Given the description of an element on the screen output the (x, y) to click on. 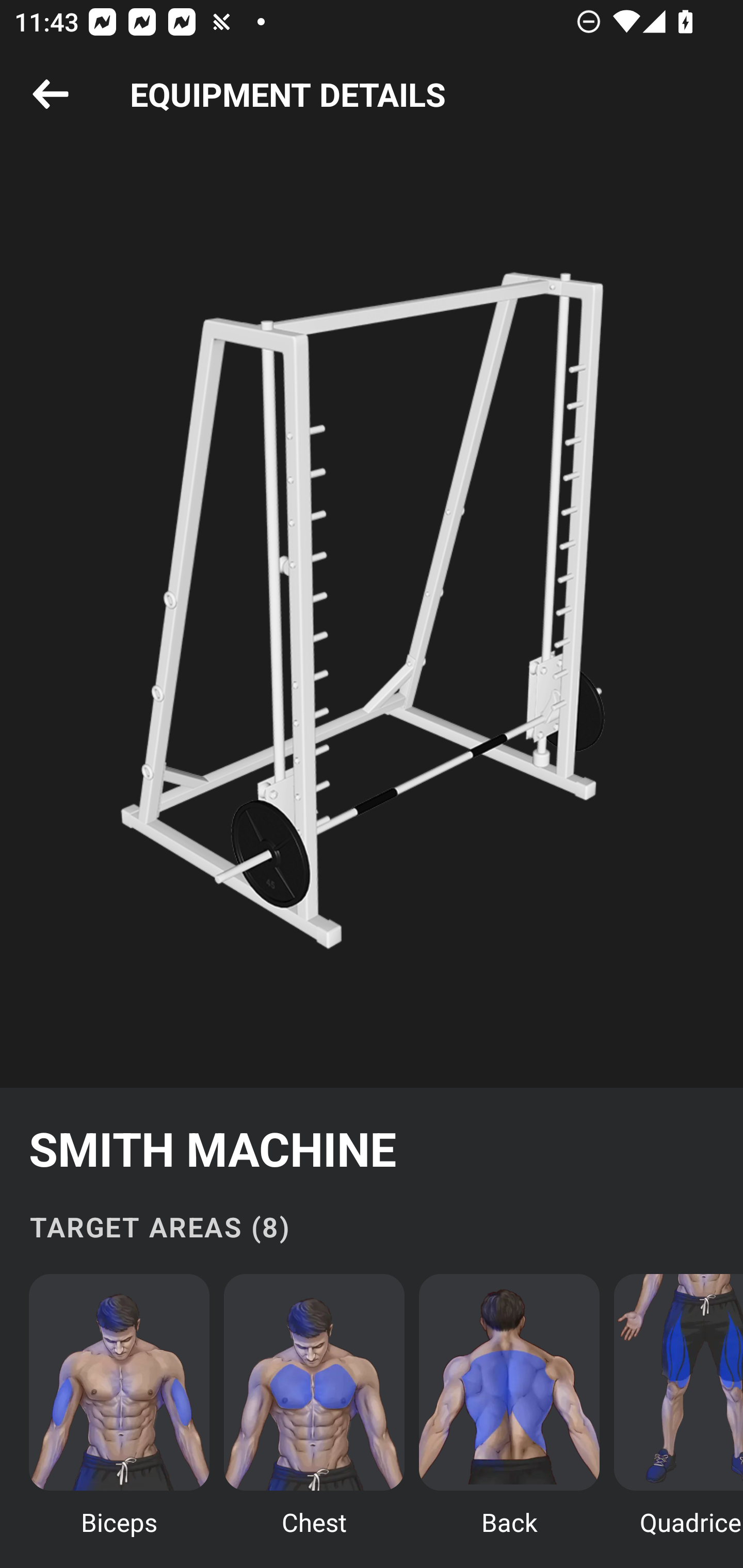
Back Icon (50, 94)
